Given the description of an element on the screen output the (x, y) to click on. 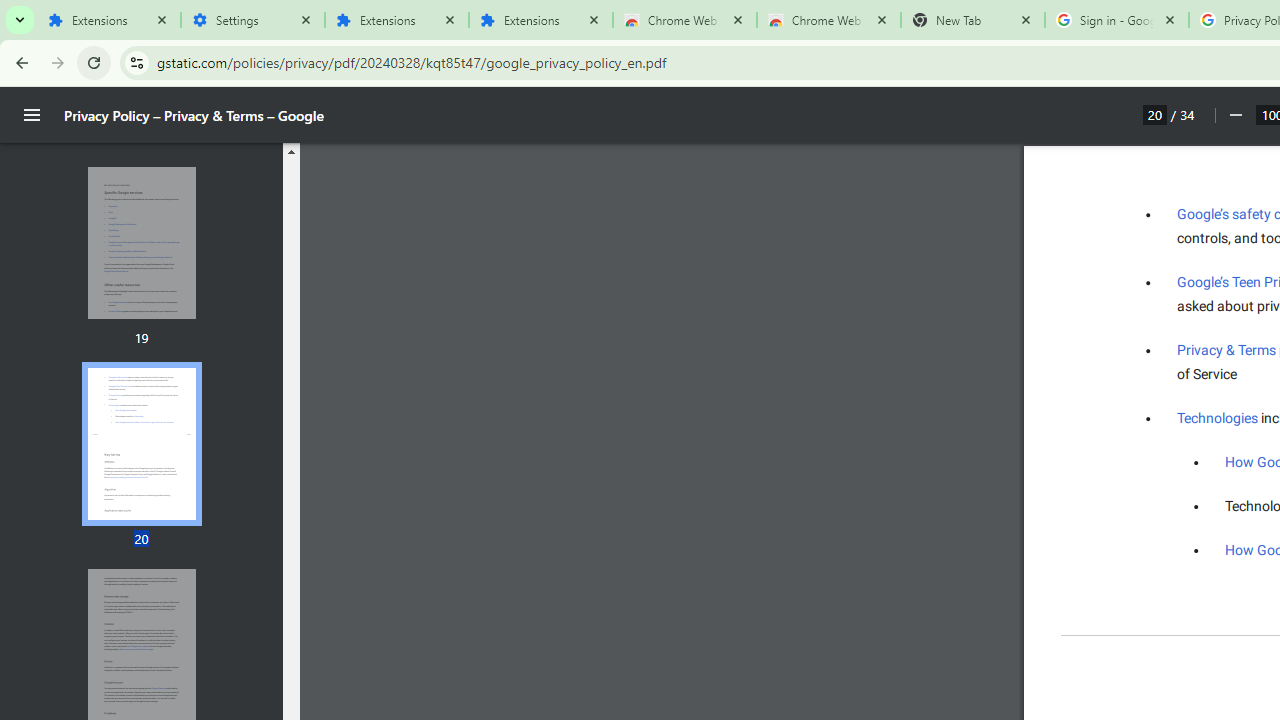
AutomationID: thumbnail (141, 443)
Chrome Web Store - Themes (828, 20)
Page number (1155, 114)
Settings (252, 20)
Chrome Web Store (684, 20)
New Tab (972, 20)
Thumbnail for page 20 (141, 444)
Thumbnail for page 19 (141, 243)
